Given the description of an element on the screen output the (x, y) to click on. 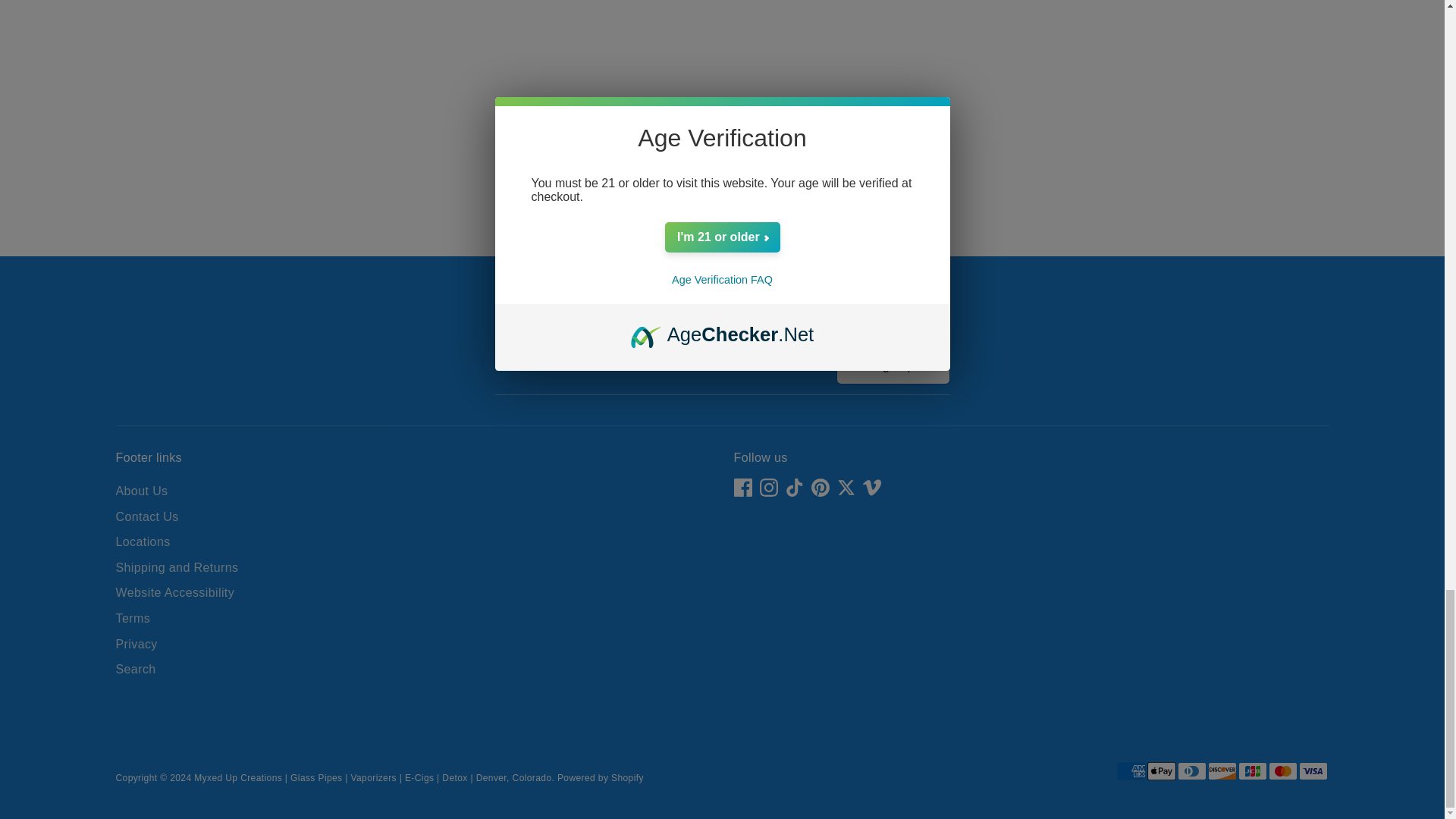
American Express (1130, 771)
